Given the description of an element on the screen output the (x, y) to click on. 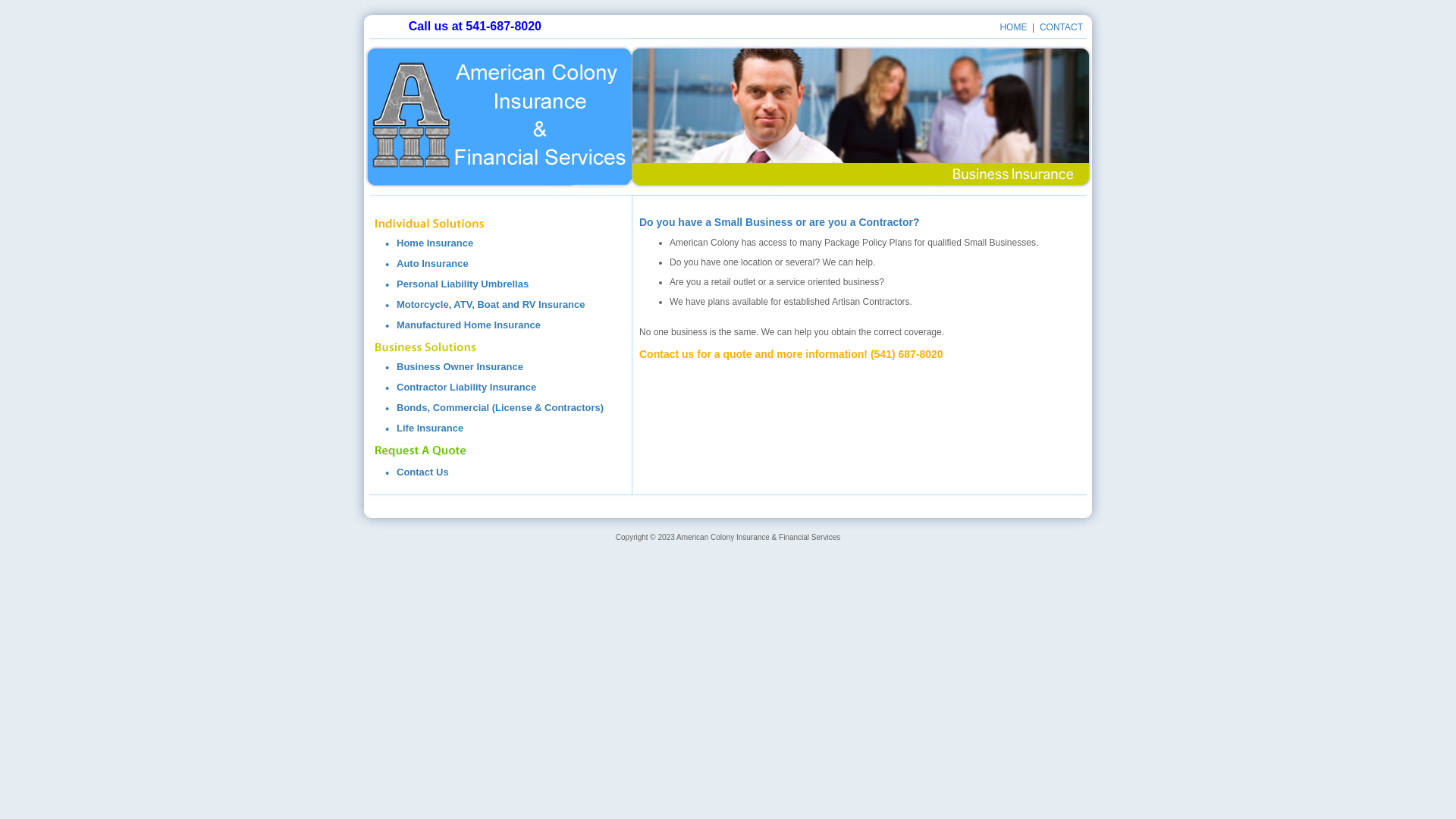
Personal Liability Umbrellas Element type: text (462, 283)
Contractor Liability Insurance Element type: text (466, 386)
HOME Element type: text (1012, 26)
Life Insurance Element type: text (429, 427)
Manufactured Home Insurance Element type: text (468, 324)
Business Owner Insurance Element type: text (459, 366)
Home Insurance Element type: text (434, 242)
Motorcycle, ATV, Boat and RV Insurance Element type: text (490, 304)
Auto Insurance Element type: text (432, 263)
Bonds, Commercial (License & Contractors) Element type: text (499, 407)
CONTACT Element type: text (1060, 26)
Contact Us Element type: text (422, 471)
